Given the description of an element on the screen output the (x, y) to click on. 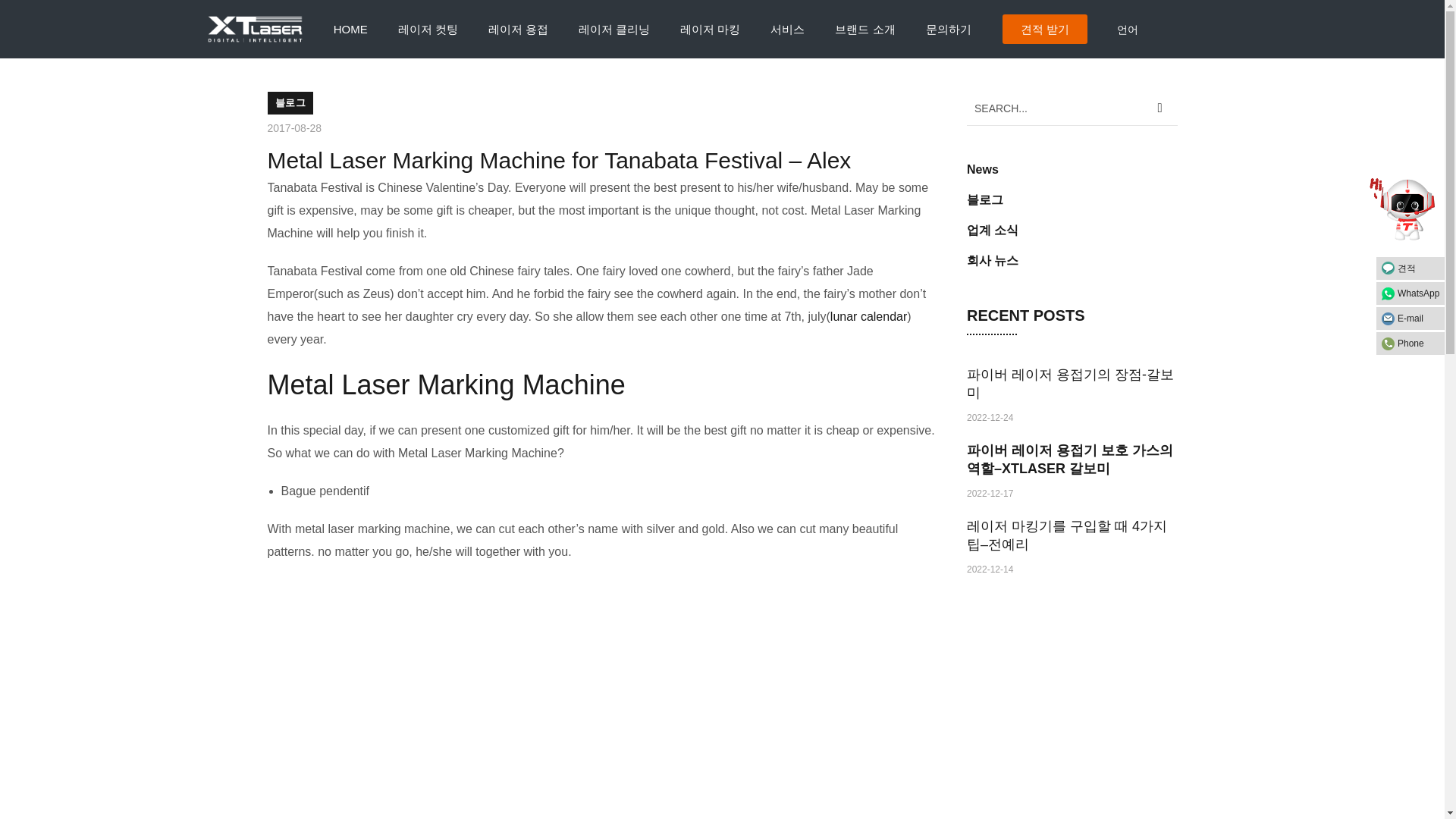
HOME (350, 29)
